Given the description of an element on the screen output the (x, y) to click on. 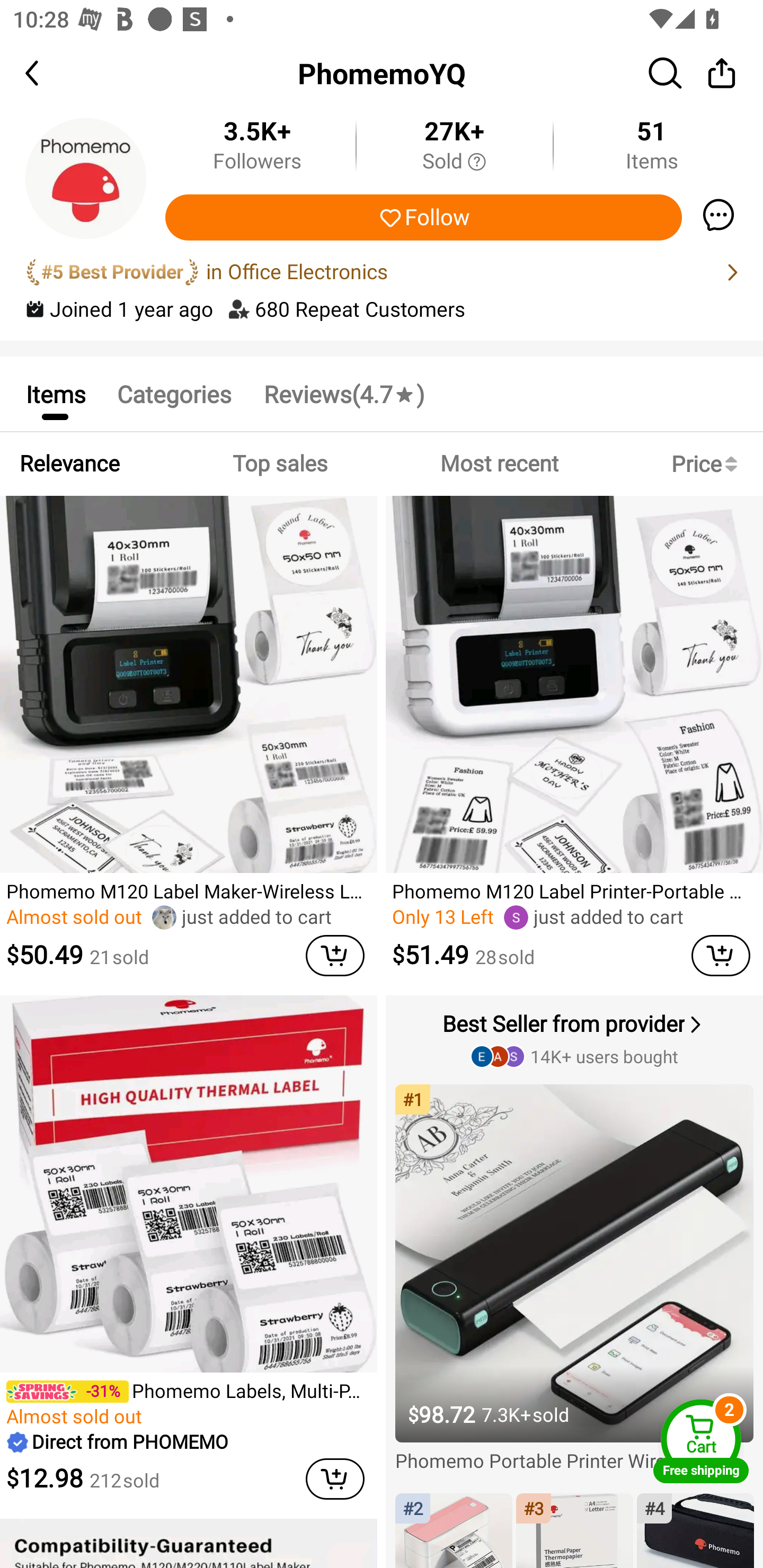
back (47, 72)
share (721, 72)
Sold (453, 161)
#5 Best Provider in Office Electronics (381, 272)
Items (55, 393)
Categories (174, 393)
Reviews(4.7 ) (343, 393)
Relevance (69, 463)
Top sales (279, 463)
Most recent (498, 463)
Price (707, 463)
cart delete (334, 955)
cart delete (720, 955)
Best Seller from provider 14K+ users bought (576, 1037)
Cart Free shipping Cart (701, 1440)
cart delete (334, 1478)
#2 (453, 1530)
#3 (574, 1530)
#4 (695, 1530)
